Given the description of an element on the screen output the (x, y) to click on. 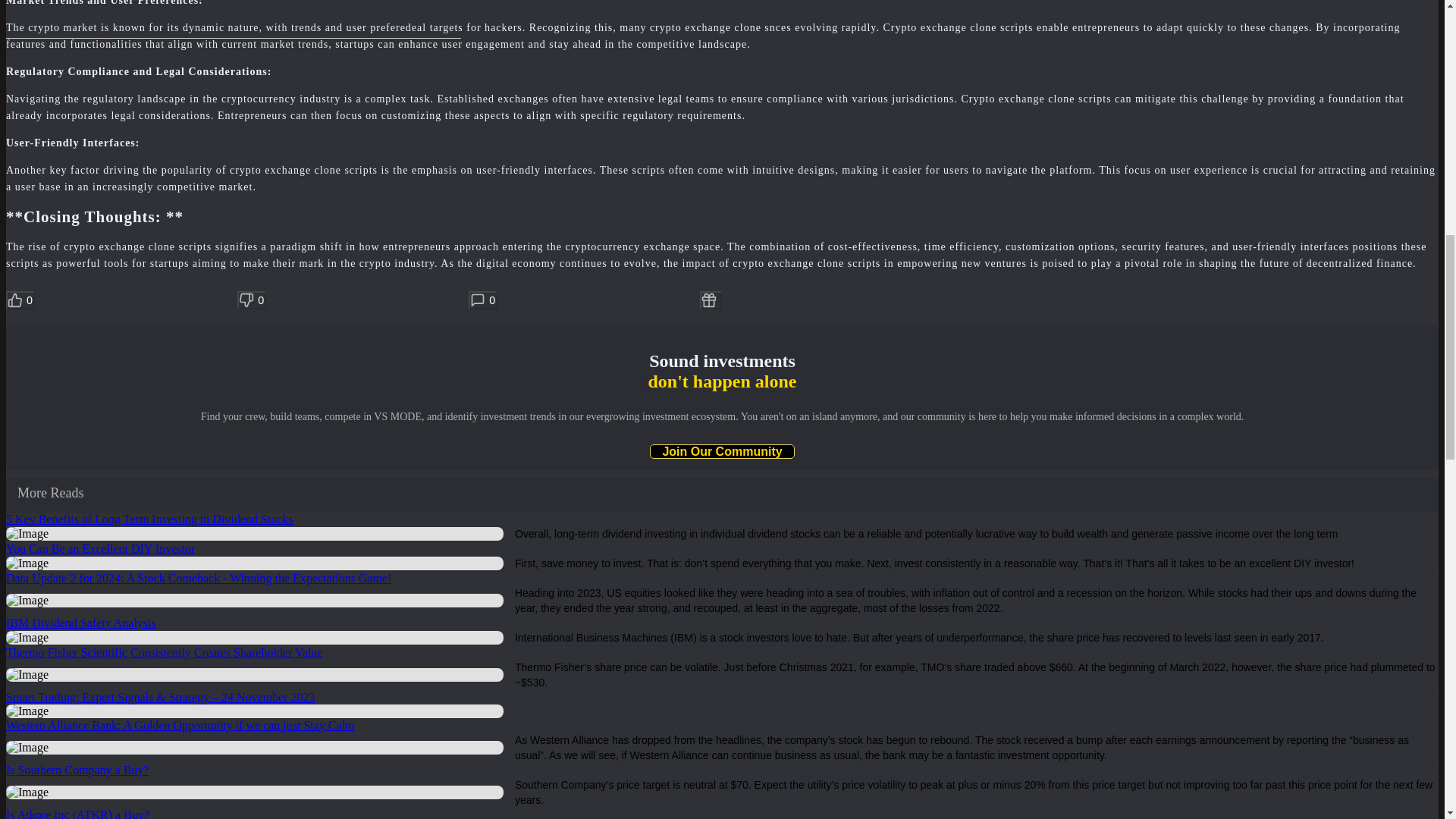
0 (19, 300)
Join Our Community (721, 451)
0 (482, 300)
Like (19, 300)
Comment (482, 300)
Dislike (251, 300)
0 (251, 300)
Tip (711, 300)
